Given the description of an element on the screen output the (x, y) to click on. 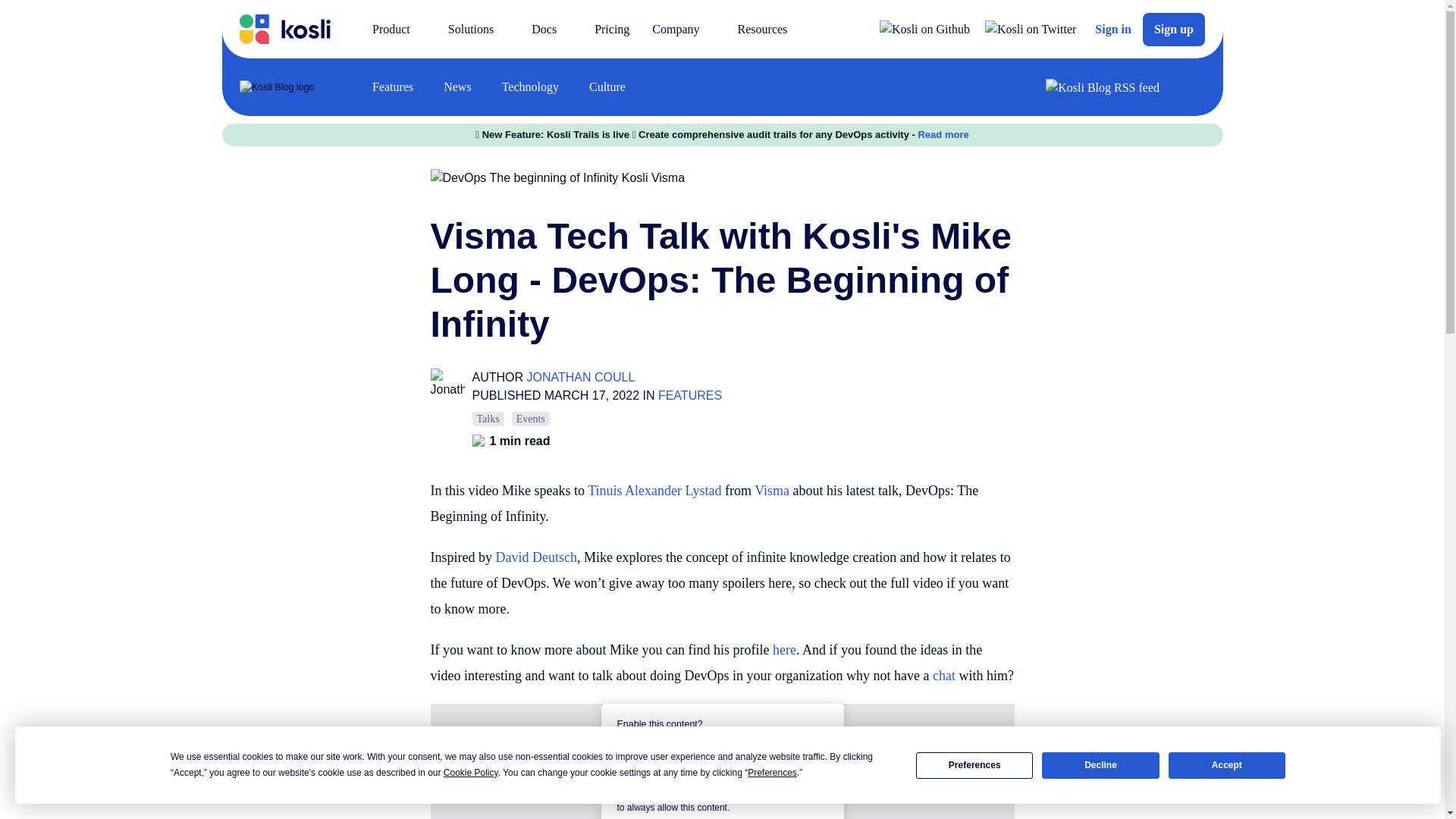
Accept (1227, 765)
Preferences (973, 765)
Company (682, 29)
Product (398, 29)
Docs (551, 29)
Solutions (477, 29)
Decline (1100, 765)
Pricing (611, 29)
